Given the description of an element on the screen output the (x, y) to click on. 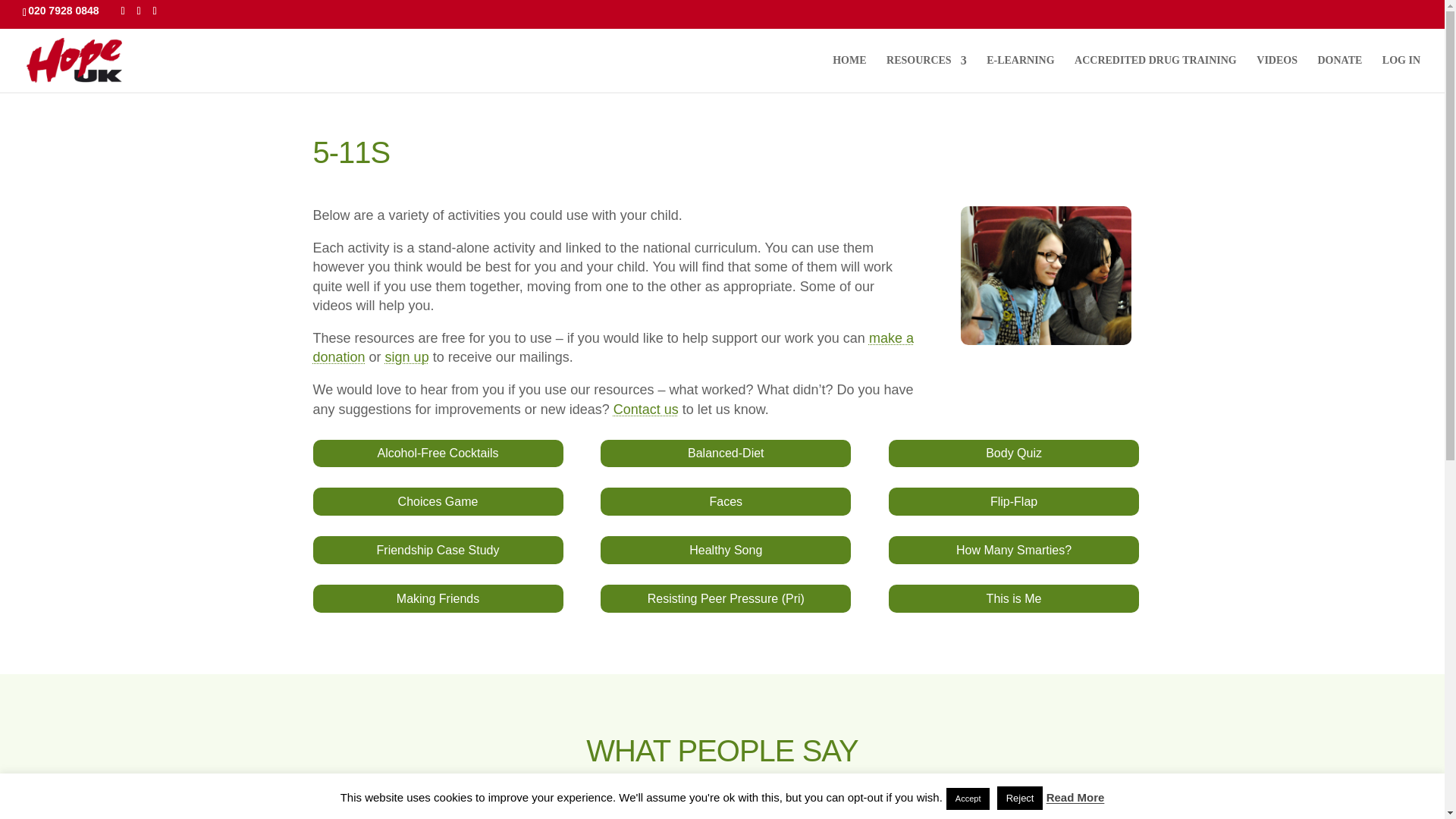
Contact us (645, 409)
DONATE (1339, 72)
Choices Game (437, 501)
RESOURCES (926, 72)
sign up (407, 356)
LOG IN (1401, 72)
Body Quiz (1013, 453)
VIDEOS (1276, 72)
Balanced-Diet (724, 453)
ACCREDITED DRUG TRAINING (1155, 72)
E-LEARNING (1020, 72)
HOME (849, 72)
make a donation (612, 347)
Alcohol-Free Cocktails (437, 453)
Faces (724, 501)
